Given the description of an element on the screen output the (x, y) to click on. 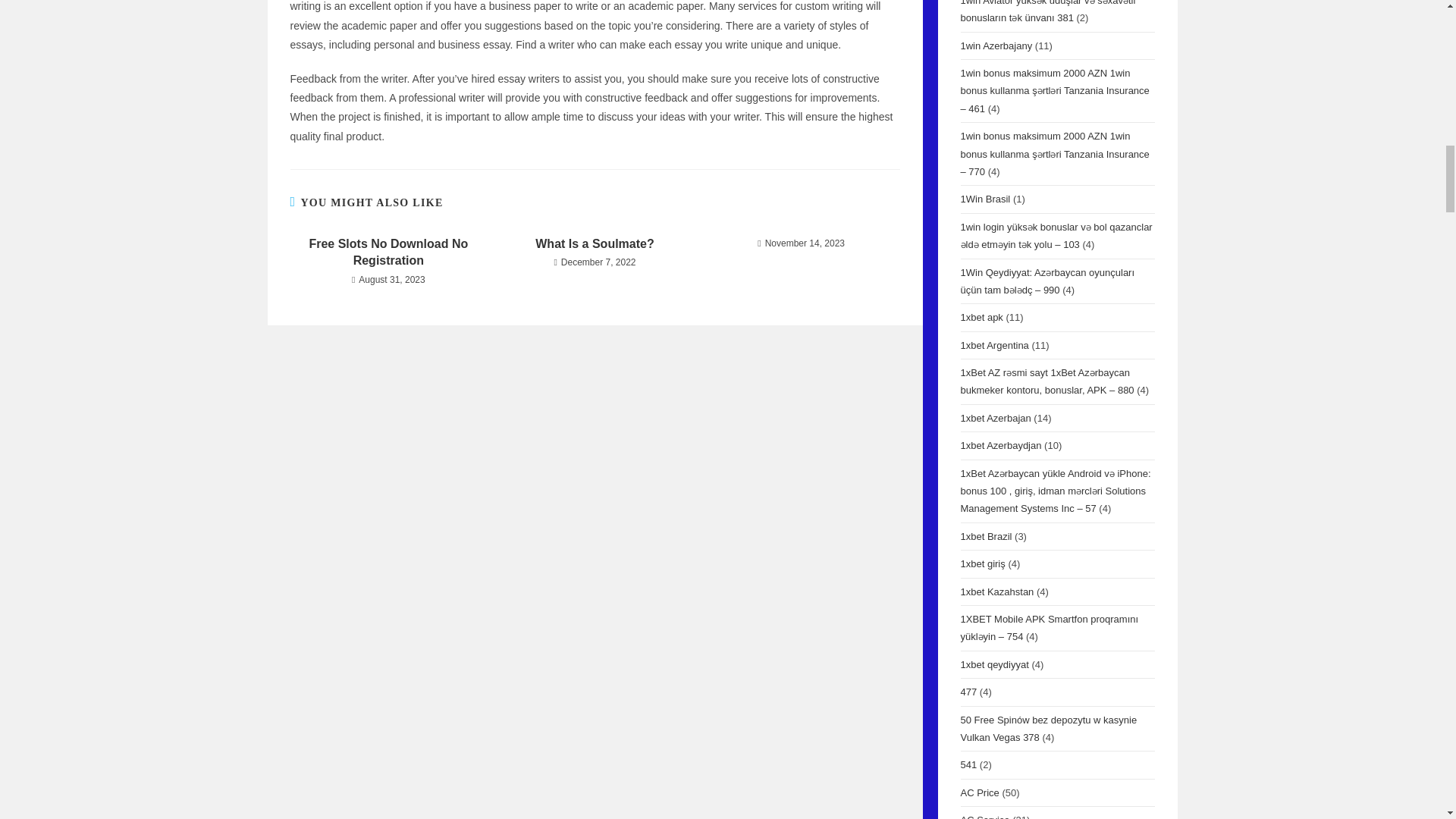
1xbet Argentina (993, 345)
1xbet Azerbaydjan (1000, 445)
1win Azerbajany (995, 45)
What Is a Soulmate? (594, 243)
1xbet Brazil (985, 536)
1xbet apk (981, 317)
1xbet Azerbajan (994, 418)
1Win Brasil (984, 198)
Free Slots No Download No Registration (387, 252)
